Given the description of an element on the screen output the (x, y) to click on. 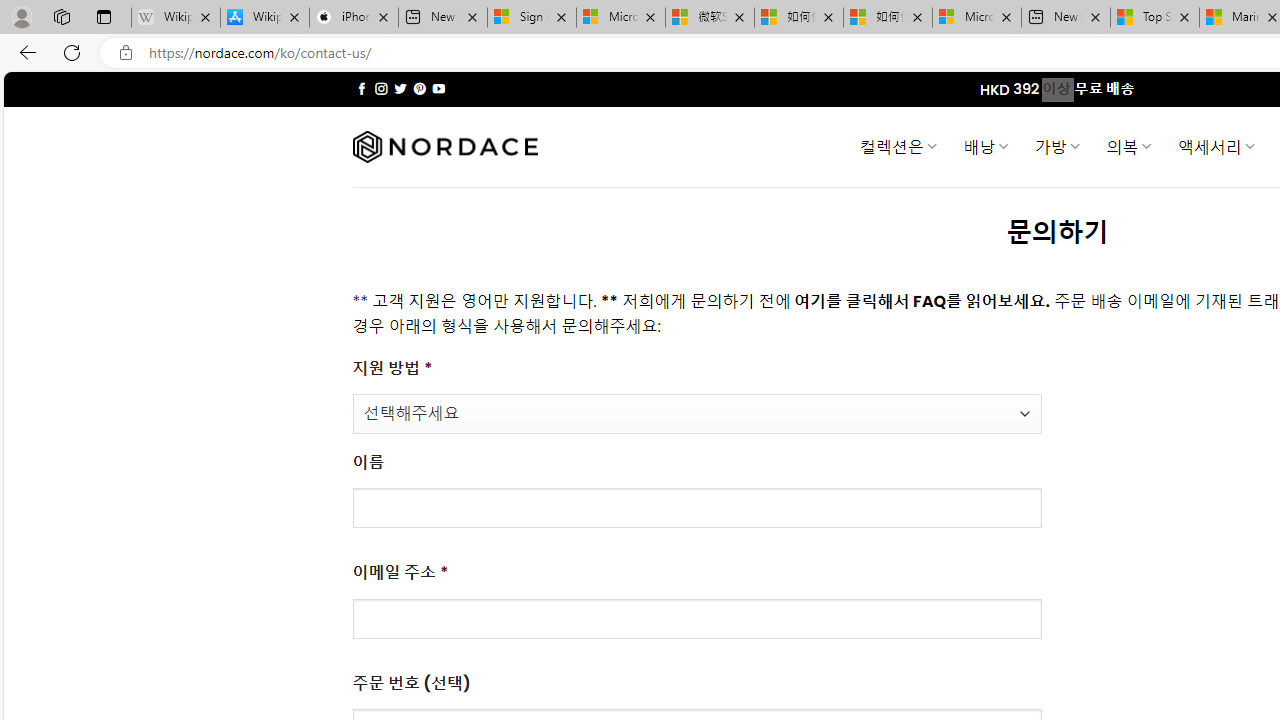
Follow on Pinterest (419, 88)
Follow on Twitter (400, 88)
Follow on Instagram (381, 88)
